Given the description of an element on the screen output the (x, y) to click on. 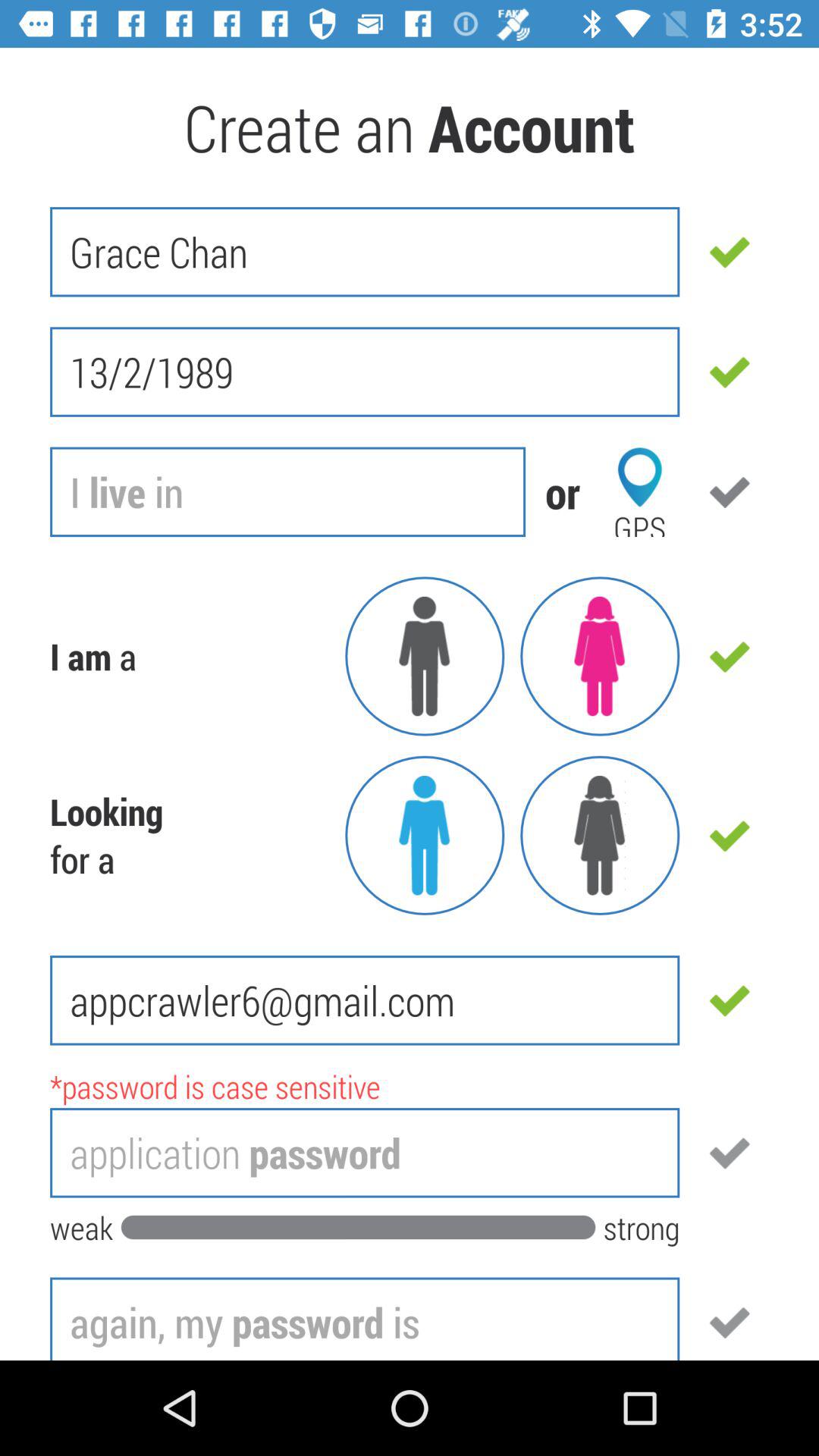
choose the item below the create an account (364, 251)
